Given the description of an element on the screen output the (x, y) to click on. 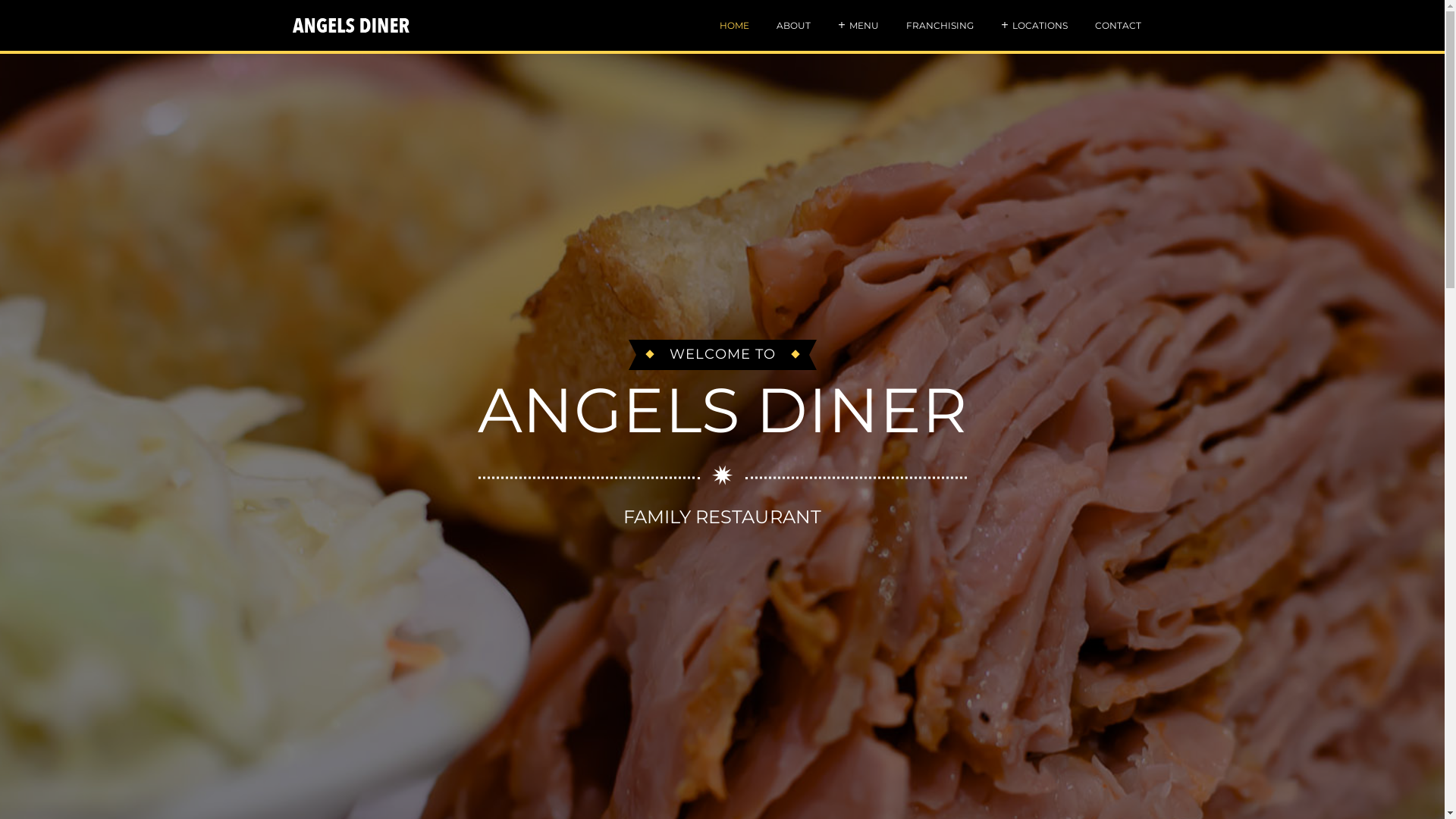
HOME Element type: text (733, 25)
CONTACT Element type: text (1118, 25)
ABOUT Element type: text (793, 25)
FRANCHISING Element type: text (938, 25)
LOCATIONS Element type: text (1038, 25)
MENU Element type: text (863, 25)
